Given the description of an element on the screen output the (x, y) to click on. 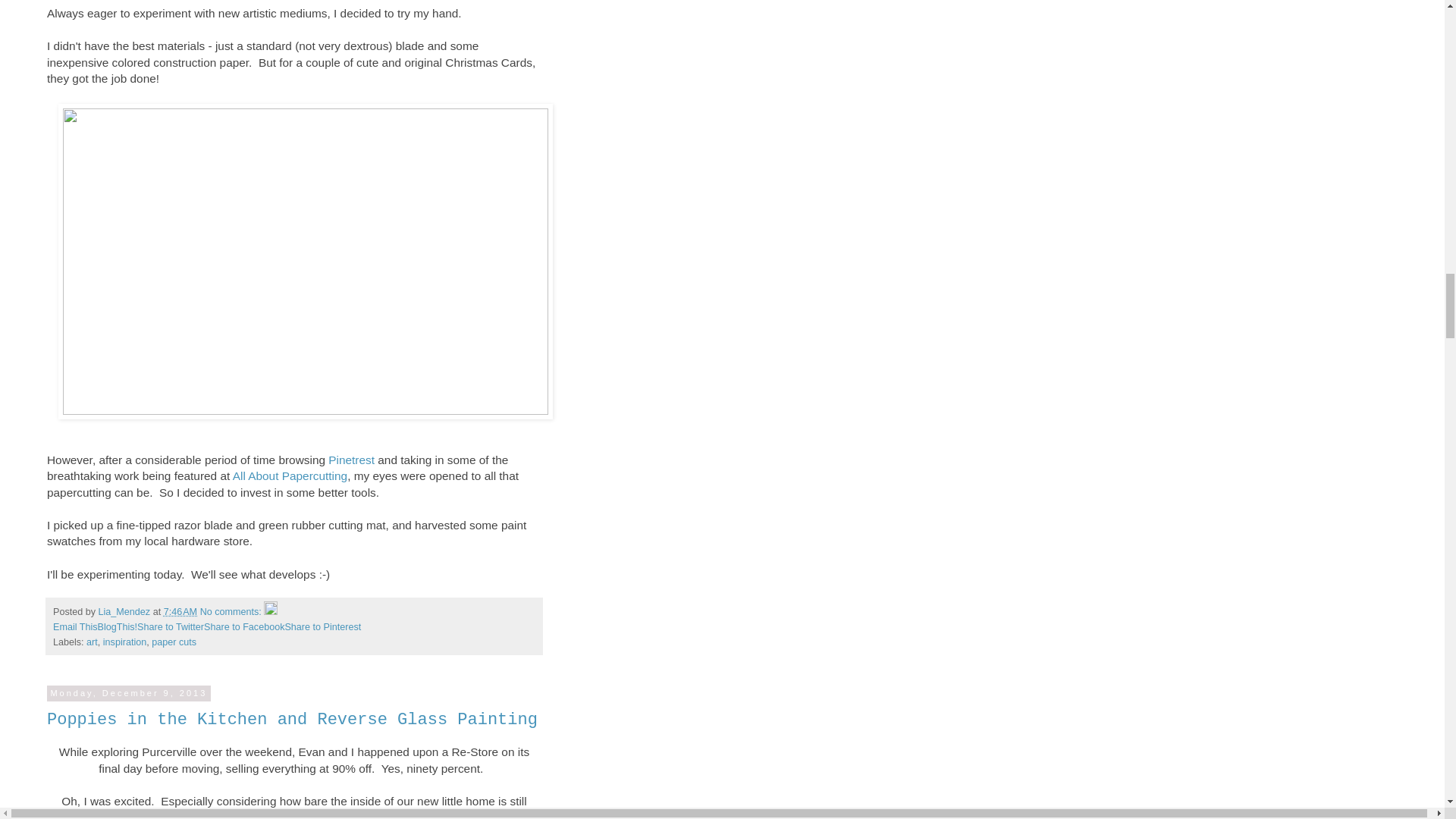
Share to Facebook (243, 626)
permanent link (179, 611)
Share to Twitter (169, 626)
author profile (125, 611)
All About Papercutting (289, 475)
Pinetrest (351, 459)
Share to Twitter (169, 626)
BlogThis! (117, 626)
BlogThis! (117, 626)
Email This (74, 626)
